Given the description of an element on the screen output the (x, y) to click on. 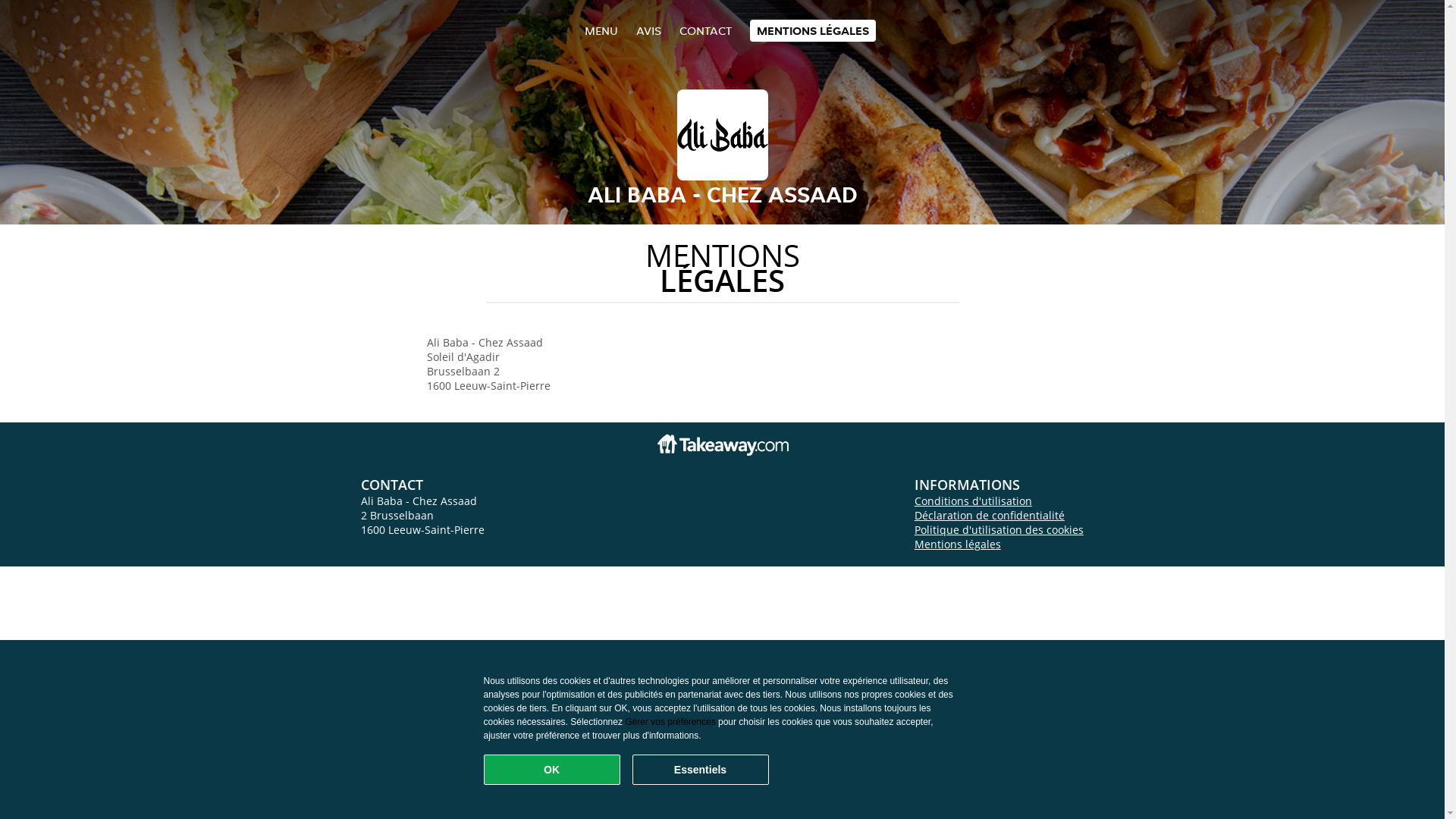
OK Element type: text (551, 769)
CONTACT Element type: text (705, 30)
Politique d'utilisation des cookies Element type: text (998, 529)
AVIS Element type: text (647, 30)
Conditions d'utilisation Element type: text (973, 500)
MENU Element type: text (600, 30)
Essentiels Element type: text (700, 769)
